Given the description of an element on the screen output the (x, y) to click on. 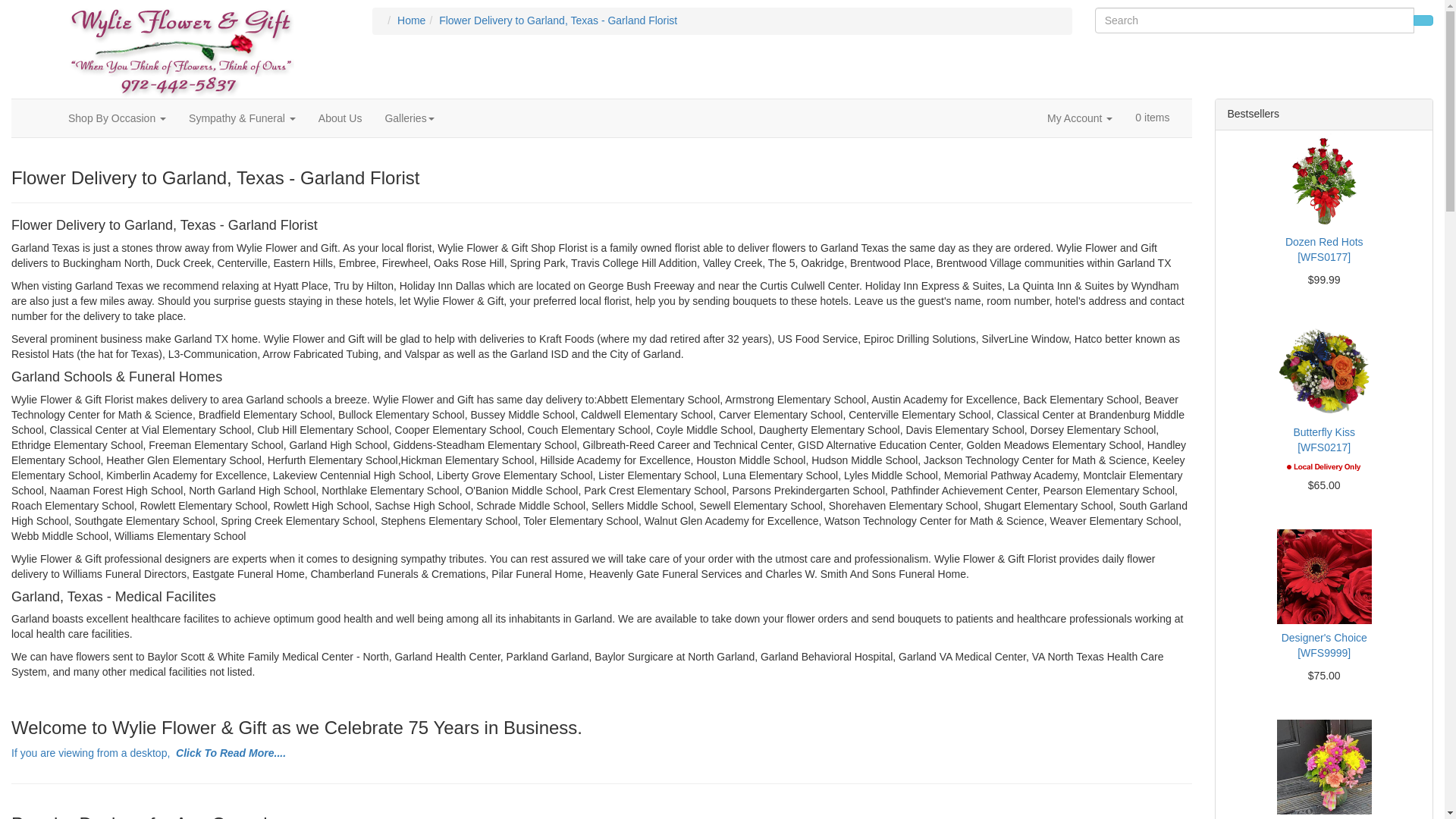
Shop By Occasion (116, 118)
Flower Delivery to Garland, Texas - Garland Florist (558, 20)
Home (411, 20)
